Given the description of an element on the screen output the (x, y) to click on. 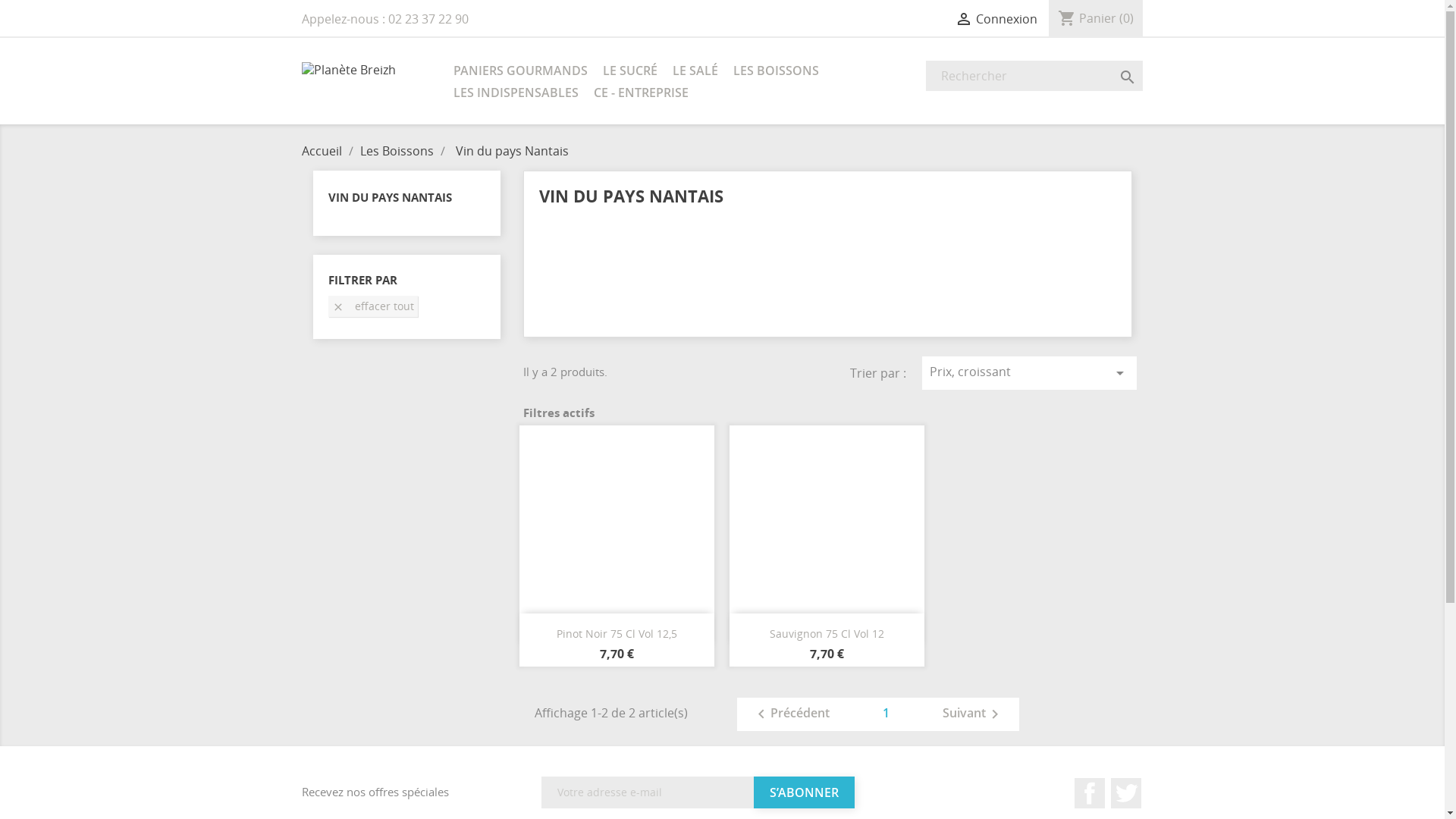
1 Element type: text (885, 711)
LES BOISSONS Element type: text (774, 71)
Pinot Noir 75 Cl Vol 12,5 Element type: text (616, 633)
Twitter Element type: text (1125, 793)
VIN DU PAYS NANTAIS Element type: text (389, 196)
Accueil Element type: text (323, 150)
LES INDISPENSABLES Element type: text (515, 93)
Les Boissons Element type: text (397, 150)
Vin du pays Nantais Element type: text (511, 150)
Sauvignon 75 Cl Vol 12 Element type: text (826, 633)
CE - ENTREPRISE Element type: text (640, 93)
PANIERS GOURMANDS Element type: text (520, 71)
Facebook Element type: text (1089, 793)
